Given the description of an element on the screen output the (x, y) to click on. 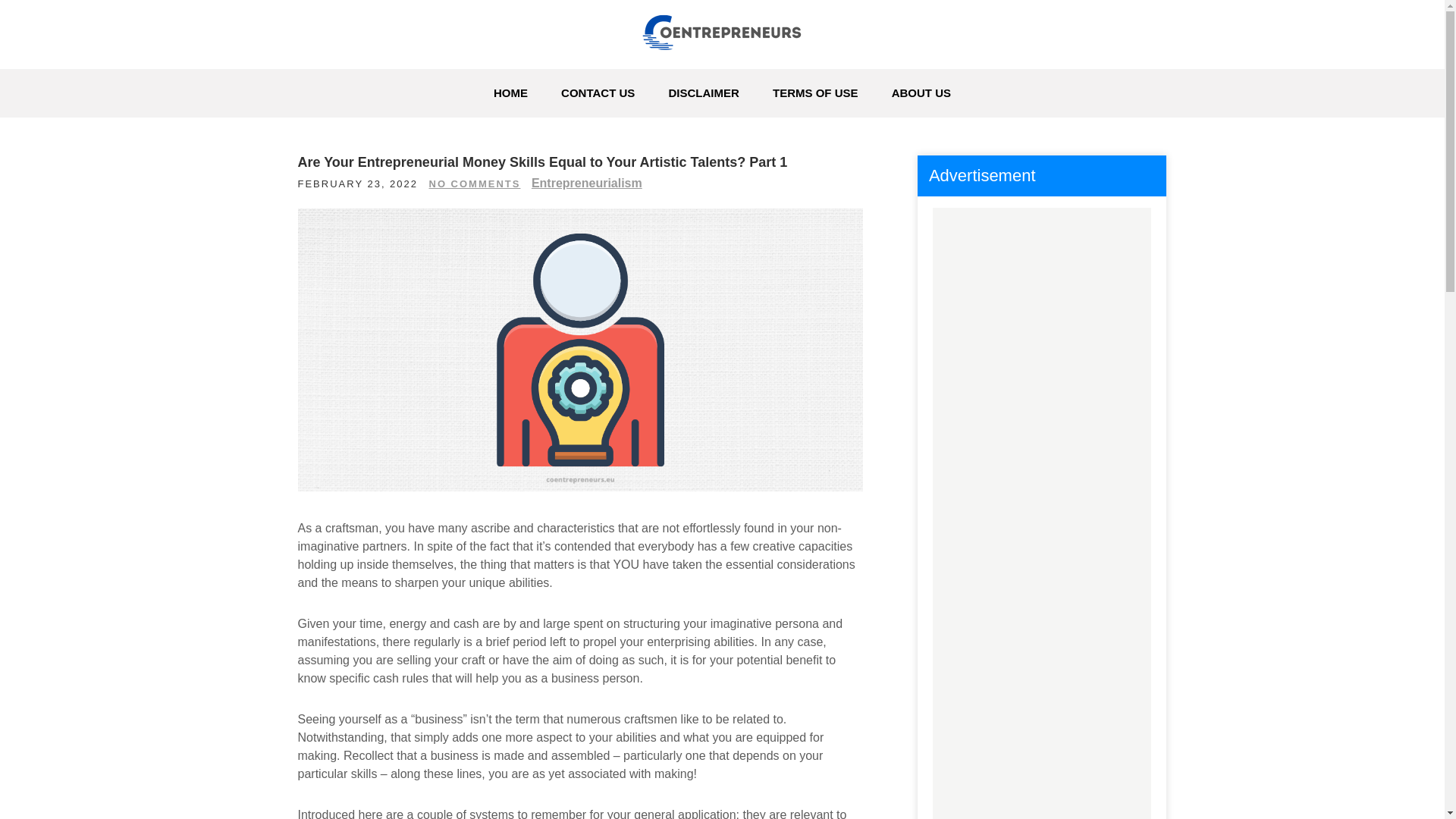
HOME (511, 92)
Entrepreneurialism (586, 182)
DISCLAIMER (703, 92)
TERMS OF USE (815, 92)
NO COMMENTS (475, 183)
Advertisement (1041, 778)
POPPYLEAD (395, 77)
CONTACT US (597, 92)
ABOUT US (921, 92)
